Given the description of an element on the screen output the (x, y) to click on. 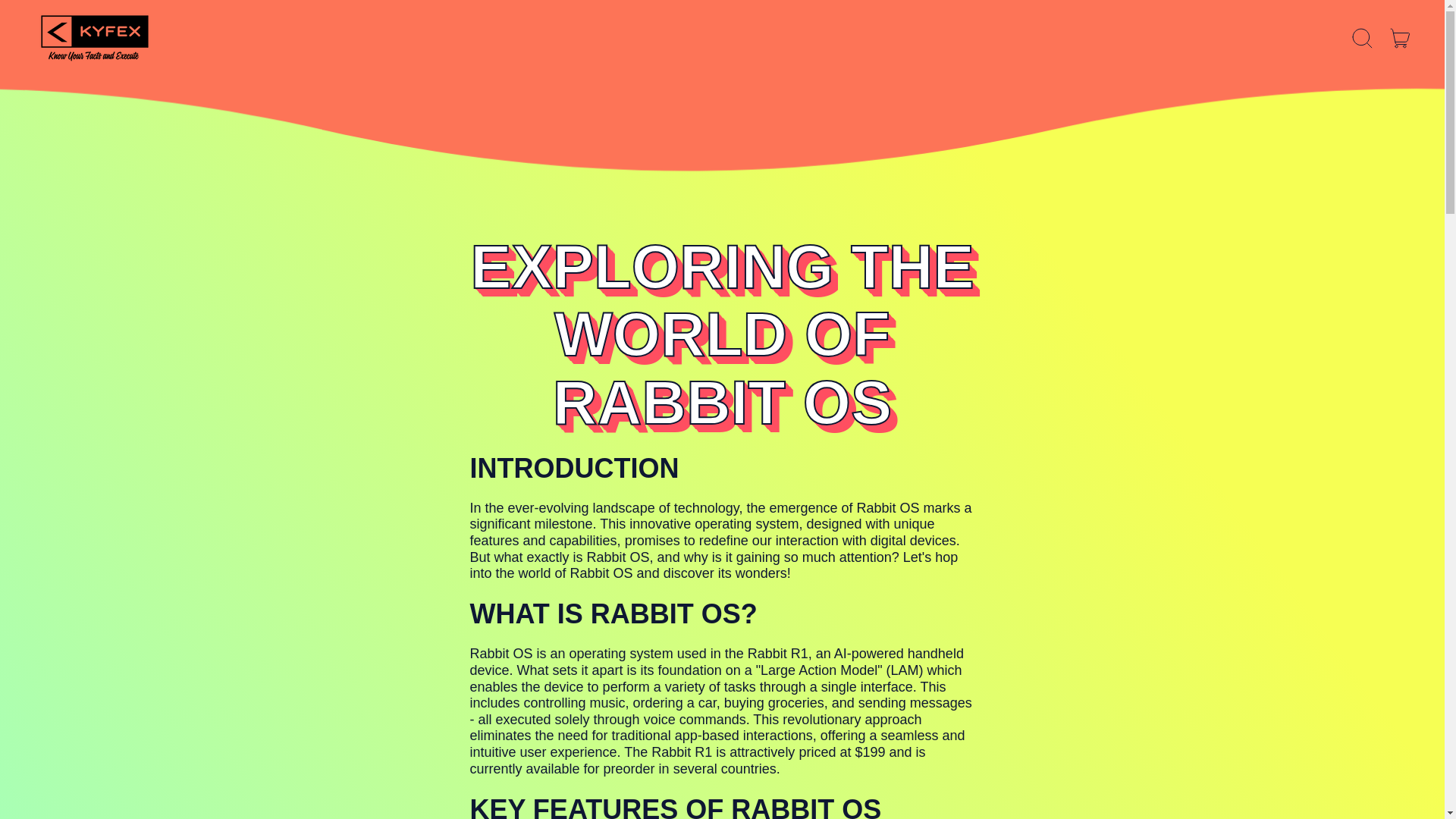
Search our site (1362, 38)
